Given the description of an element on the screen output the (x, y) to click on. 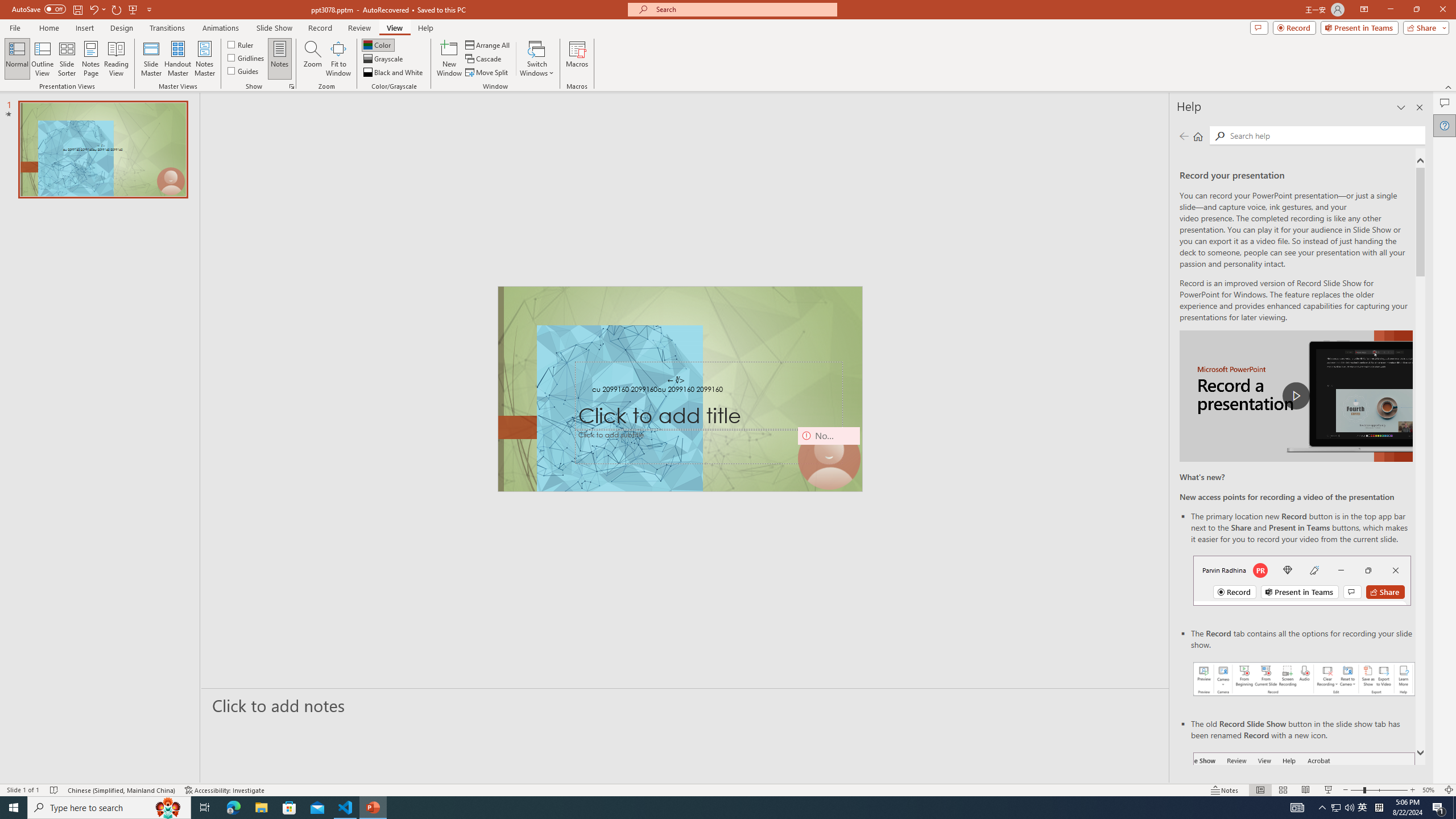
An abstract genetic concept (679, 388)
Macros (576, 58)
Record your presentations screenshot one (1304, 678)
Move Split (487, 72)
Record button in top bar (1301, 580)
New Window (449, 58)
